Given the description of an element on the screen output the (x, y) to click on. 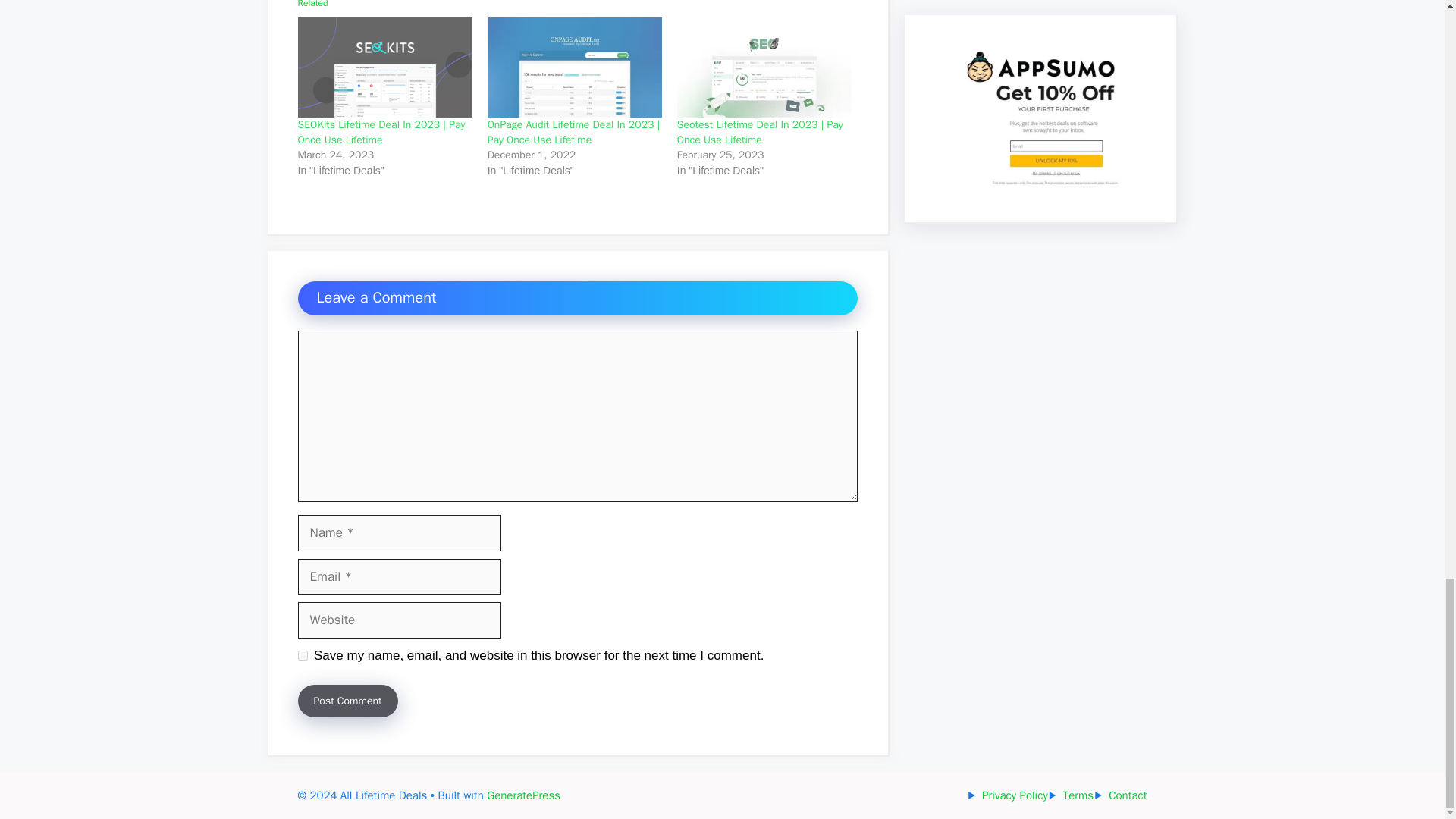
yes (302, 655)
Contact (1127, 795)
Post Comment (347, 700)
Post Comment (347, 700)
Privacy Policy (1014, 795)
GeneratePress (523, 795)
Terms (1077, 795)
